Given the description of an element on the screen output the (x, y) to click on. 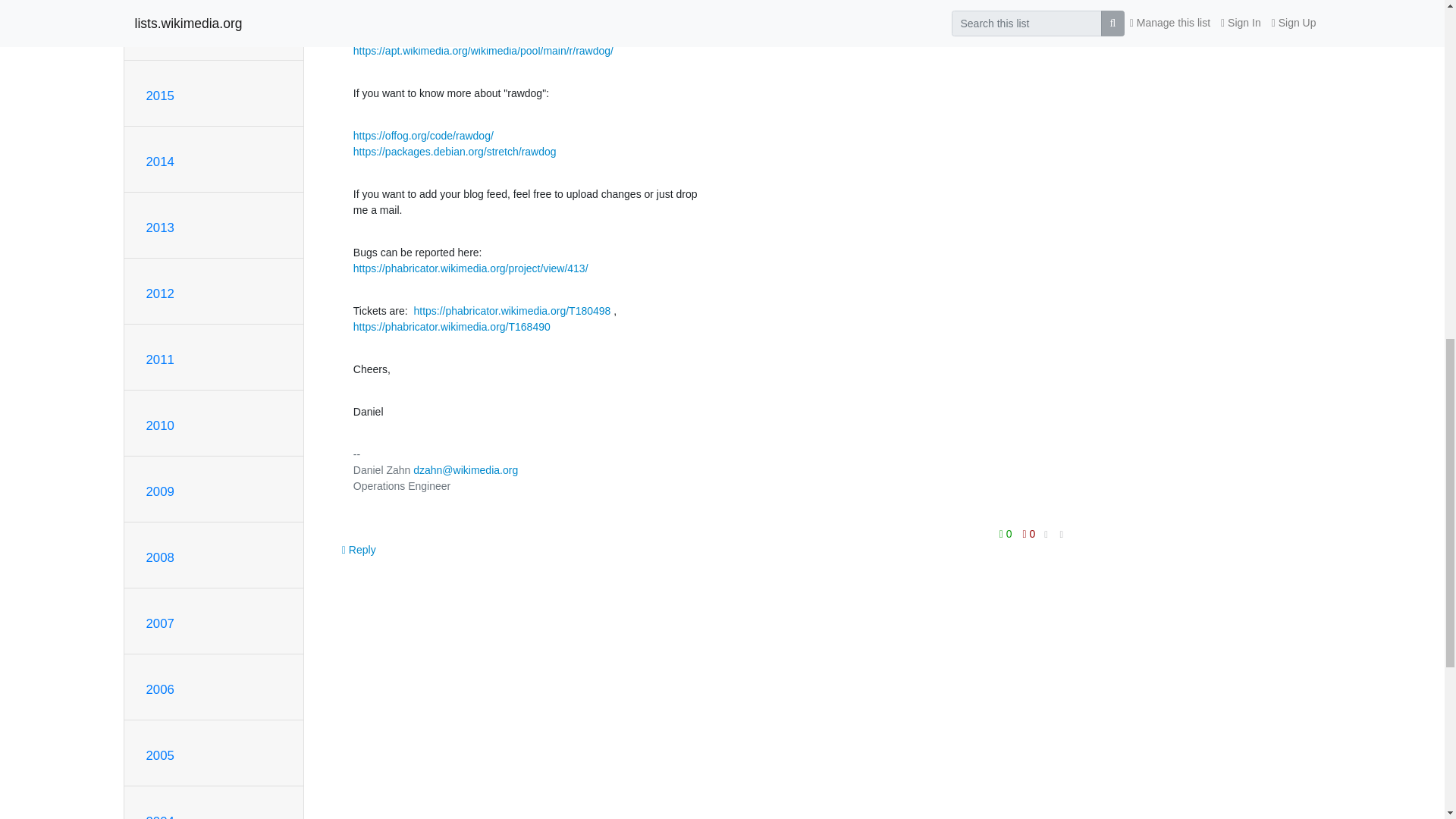
You must be logged-in to vote. (1029, 532)
You must be logged-in to vote. (1007, 532)
Sign in to reply online (359, 548)
